Given the description of an element on the screen output the (x, y) to click on. 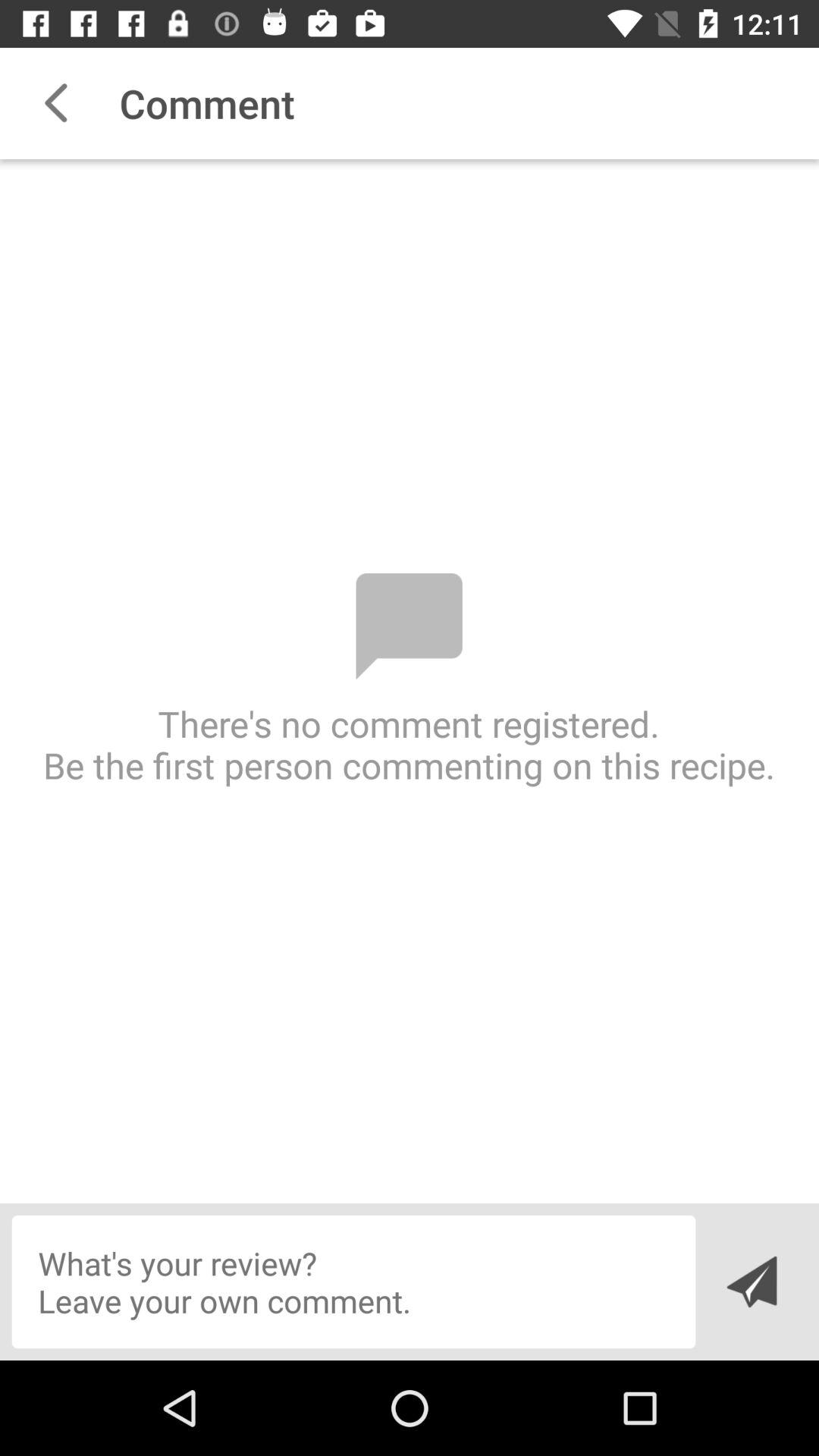
turn off item above there s no item (55, 103)
